Given the description of an element on the screen output the (x, y) to click on. 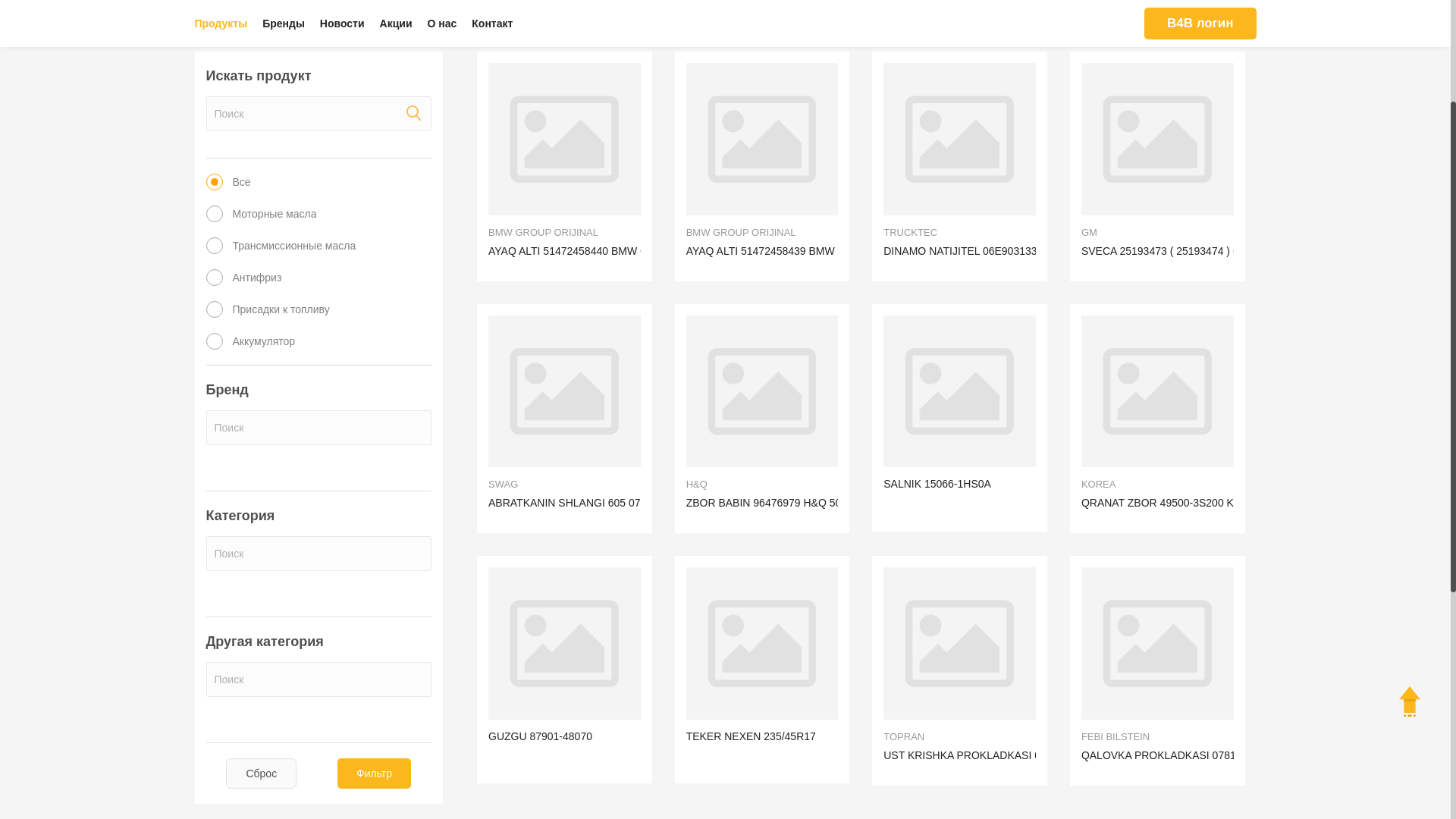
AYAQ ALTI 51472458439 BMW GROUP ORIJINAL 2HY-ARA Element type: text (830, 420)
AYAQ ALTI 51472458439 BMW GROUP ORIJINAL  2HY-ARA Element type: hover (762, 308)
AYAQ ALTI 51472458440 BMW GROUP ORIJINAL 2HY-ARA Element type: text (632, 420)
ZBOR BABIN 96476979 H&Q 5005 CH121 Element type: hover (762, 561)
AYAQ ALTI 51472458440 BMW GROUP ORIJINAL  2HY-ARA Element type: hover (564, 308)
SVECA 25193473 ( 25193474 ) GM Element type: text (1165, 420)
SALNIK 15066-1HS0A Element type: text (937, 653)
SALNIK 15066-1HS0A Element type: hover (959, 561)
SVECA 25193473 ( 25193474 ) GM Element type: hover (1157, 308)
QRANAT ZBOR 49500-3S200 KOREA Element type: text (1172, 672)
Avtosistem Element type: hover (264, 77)
ABRATKANIN SHLANGI 605 078 05 81 SWAG 10923004 Element type: hover (564, 561)
ABRATKANIN SHLANGI 605 078 05 81 SWAG 10923004 Element type: text (624, 672)
ZBOR BABIN 96476979 H&Q 5005 CH121 Element type: text (787, 672)
QRANAT ZBOR 49500-3S200 KOREA Element type: hover (1157, 561)
